Given the description of an element on the screen output the (x, y) to click on. 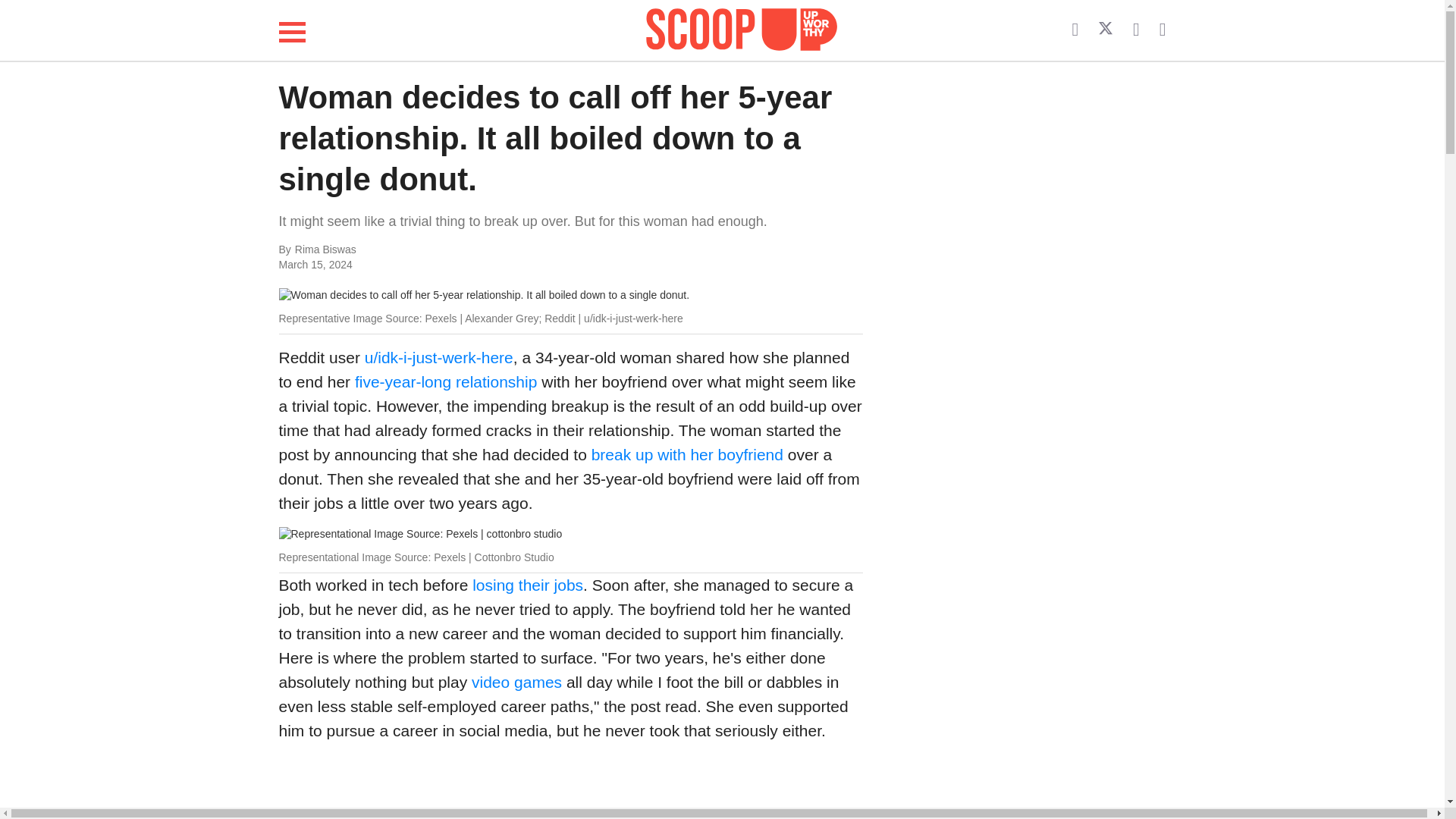
SCOOP UPWORTHY (741, 27)
video games  (518, 682)
SCOOP UPWORTHY (741, 29)
losing their jobs (527, 584)
five-year-long relationship (446, 381)
Rima Biswas (445, 249)
break up with her boyfriend (687, 454)
